Given the description of an element on the screen output the (x, y) to click on. 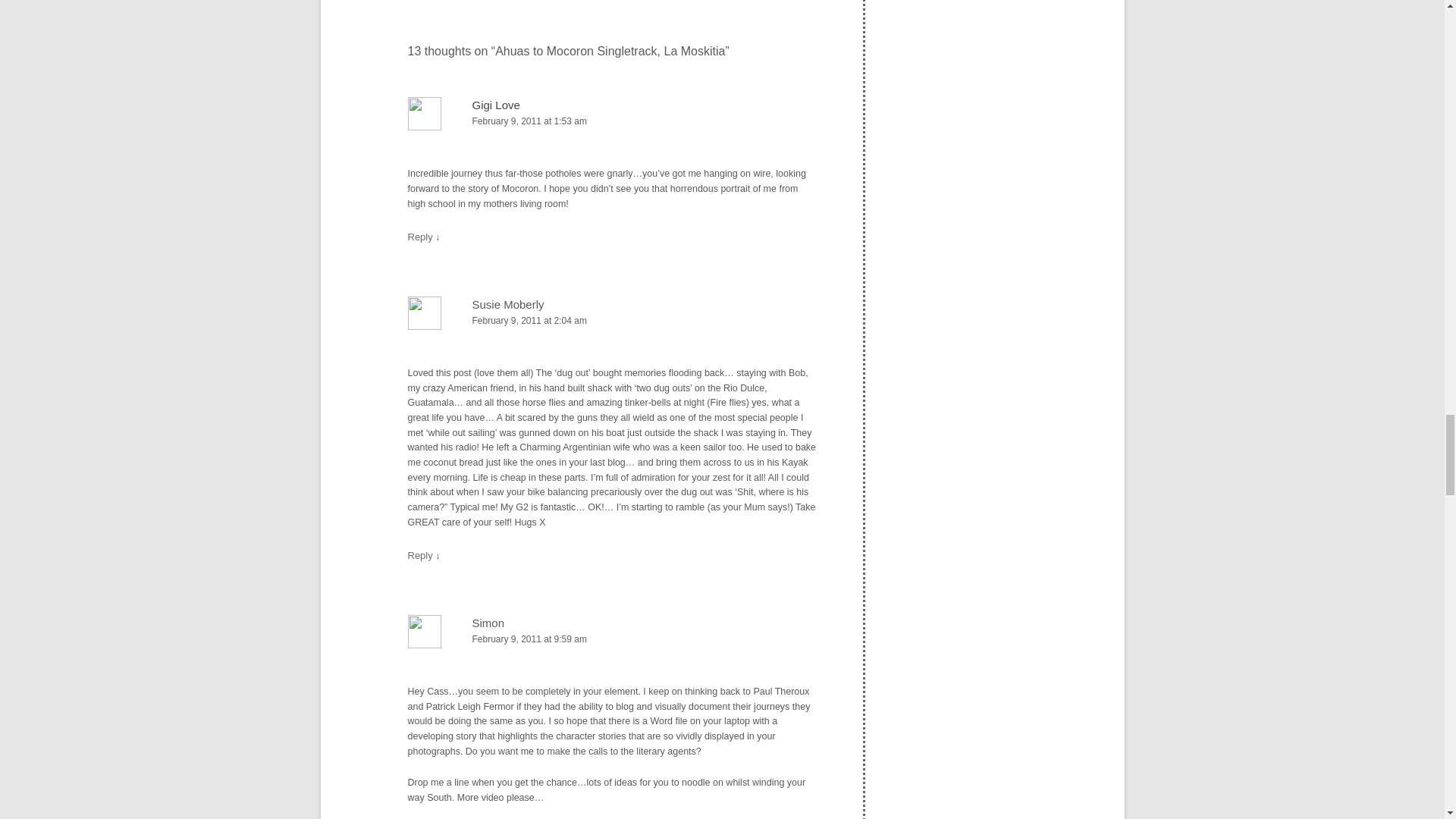
Gigi Love (495, 104)
February 9, 2011 at 2:04 am (611, 320)
Reply (419, 555)
Reply (419, 236)
February 9, 2011 at 1:53 am (611, 121)
February 9, 2011 at 9:59 am (611, 639)
